Given the description of an element on the screen output the (x, y) to click on. 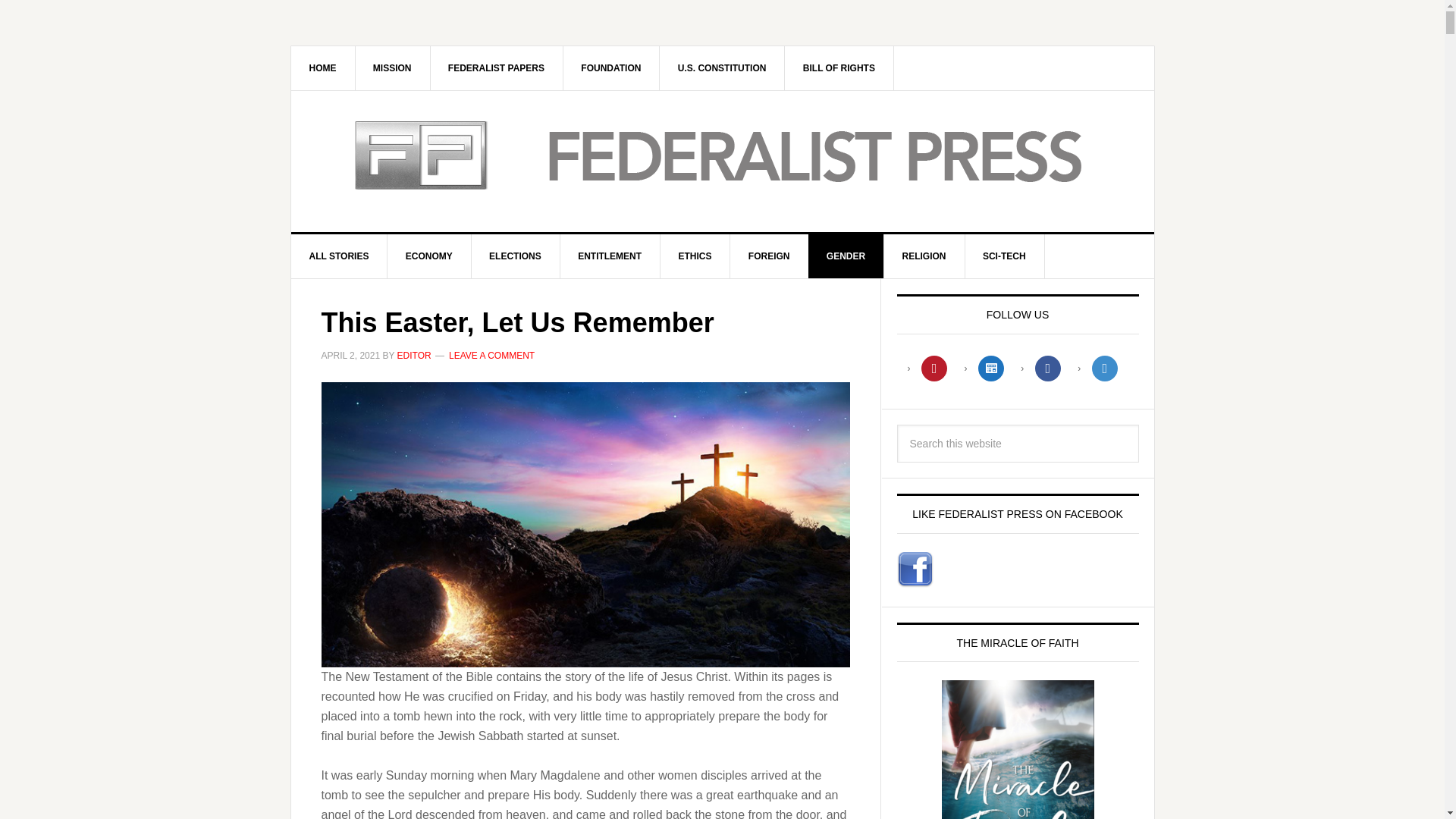
EDITOR (413, 355)
LEAVE A COMMENT (491, 355)
ELECTIONS (515, 256)
GENDER (845, 256)
MISSION (392, 67)
ALL STORIES (339, 256)
This Easter, Let Us Remember (517, 322)
FEDERALIST PAPERS (496, 67)
FOUNDATION (610, 67)
SCI-TECH (1004, 256)
RELIGION (924, 256)
Default Label (934, 367)
BILL OF RIGHTS (838, 67)
